Given the description of an element on the screen output the (x, y) to click on. 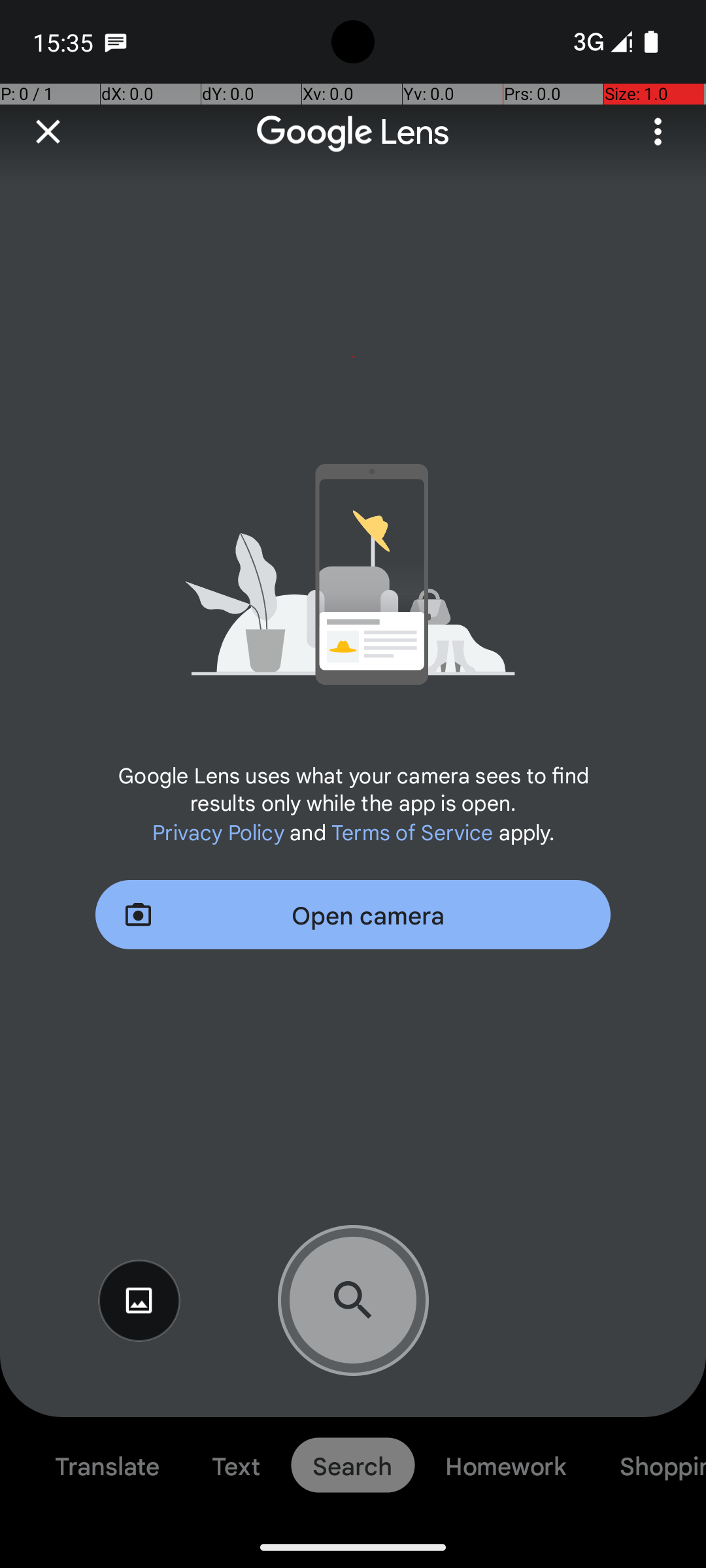
Google Lens uses what your camera sees to find results only while the app is open. Element type: android.widget.TextView (352, 787)
Privacy Policy and Terms of Service apply. Element type: android.widget.TextView (352, 831)
Select an image from gallery Element type: android.widget.ImageView (139, 1300)
